Given the description of an element on the screen output the (x, y) to click on. 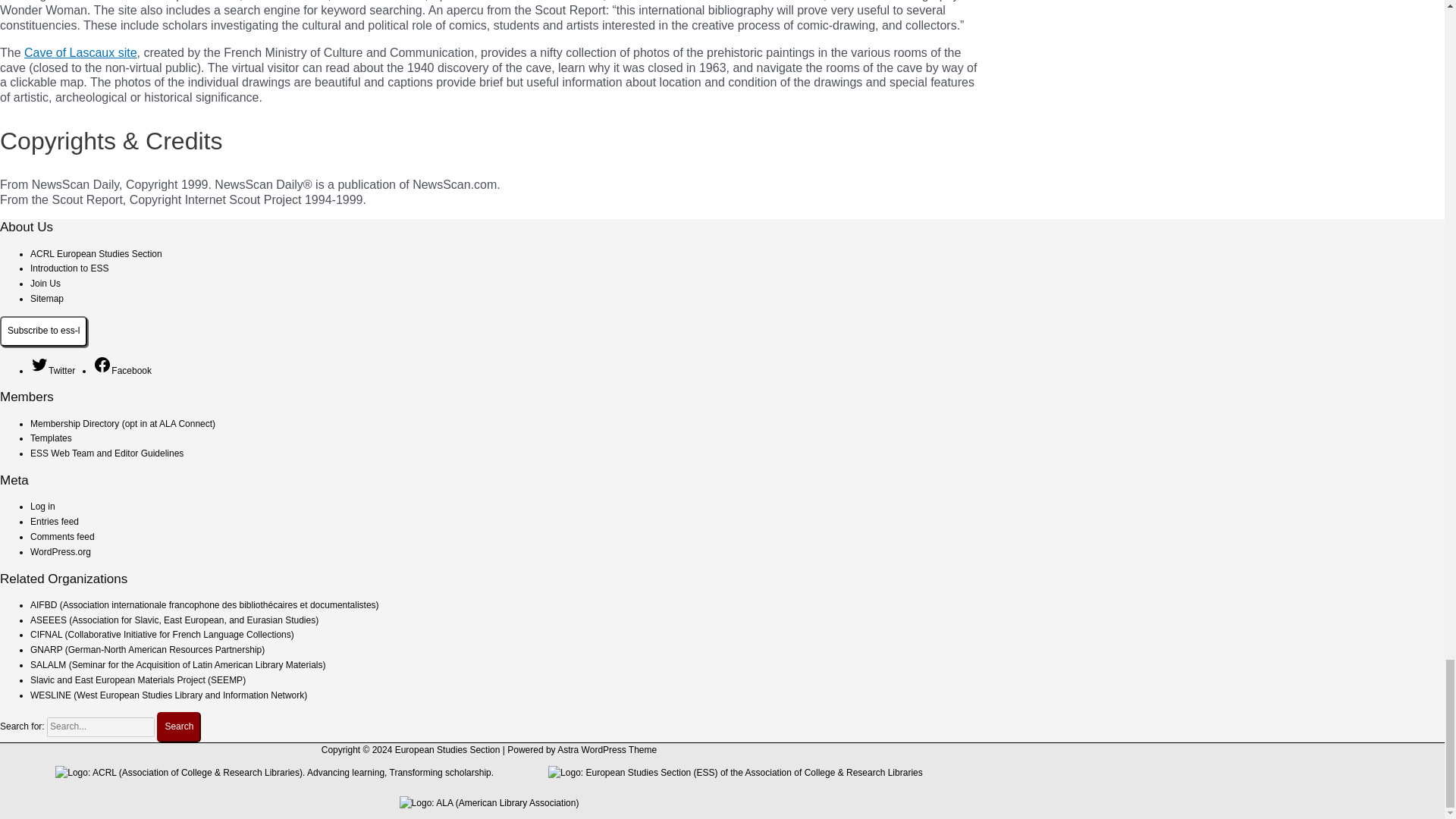
Search (178, 726)
Search (178, 726)
